Given the description of an element on the screen output the (x, y) to click on. 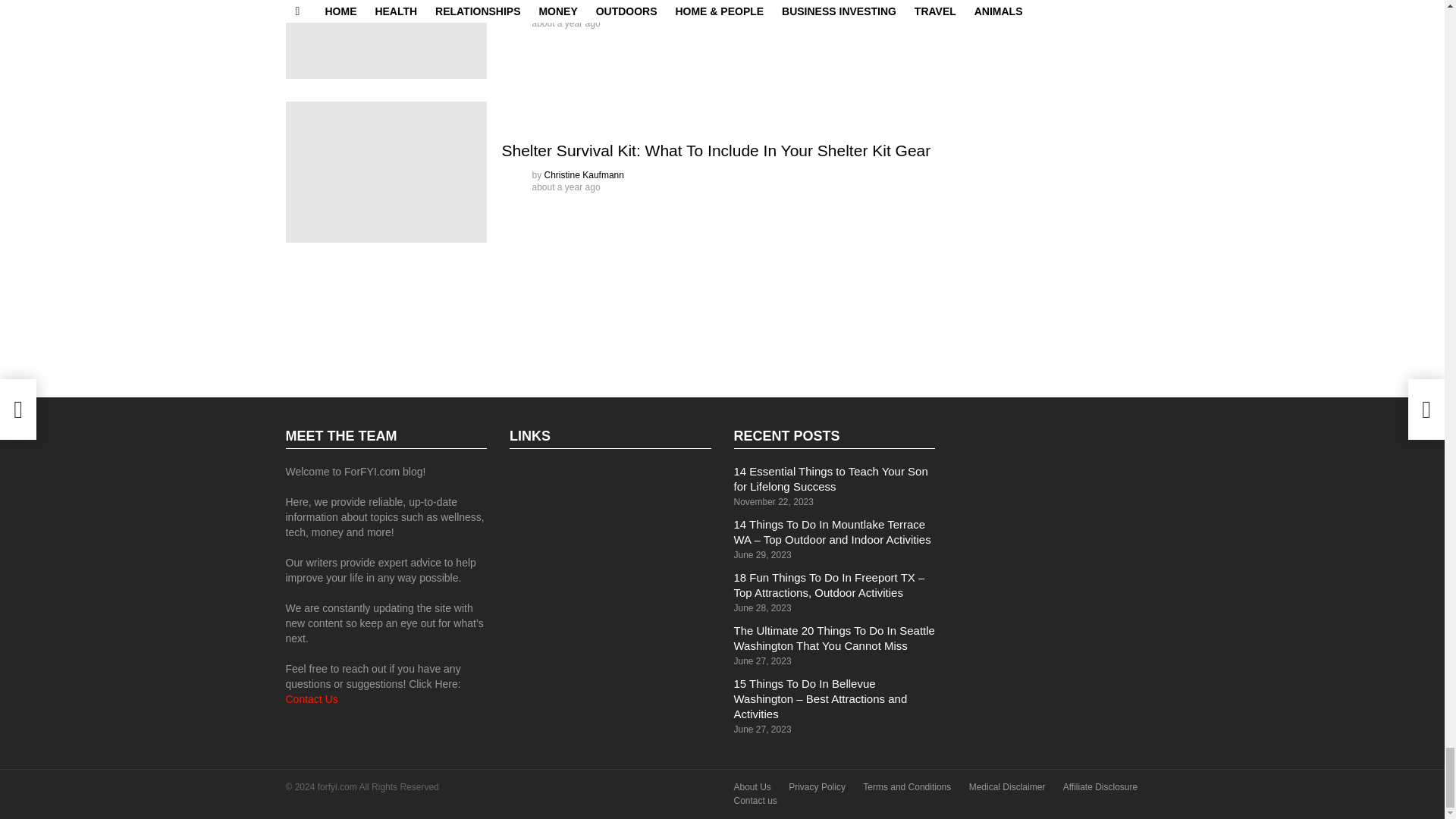
March 15, 2023, 8:29 pm (565, 23)
Posts by Christine Kaufmann (584, 10)
Posts by Christine Kaufmann (584, 174)
